Given the description of an element on the screen output the (x, y) to click on. 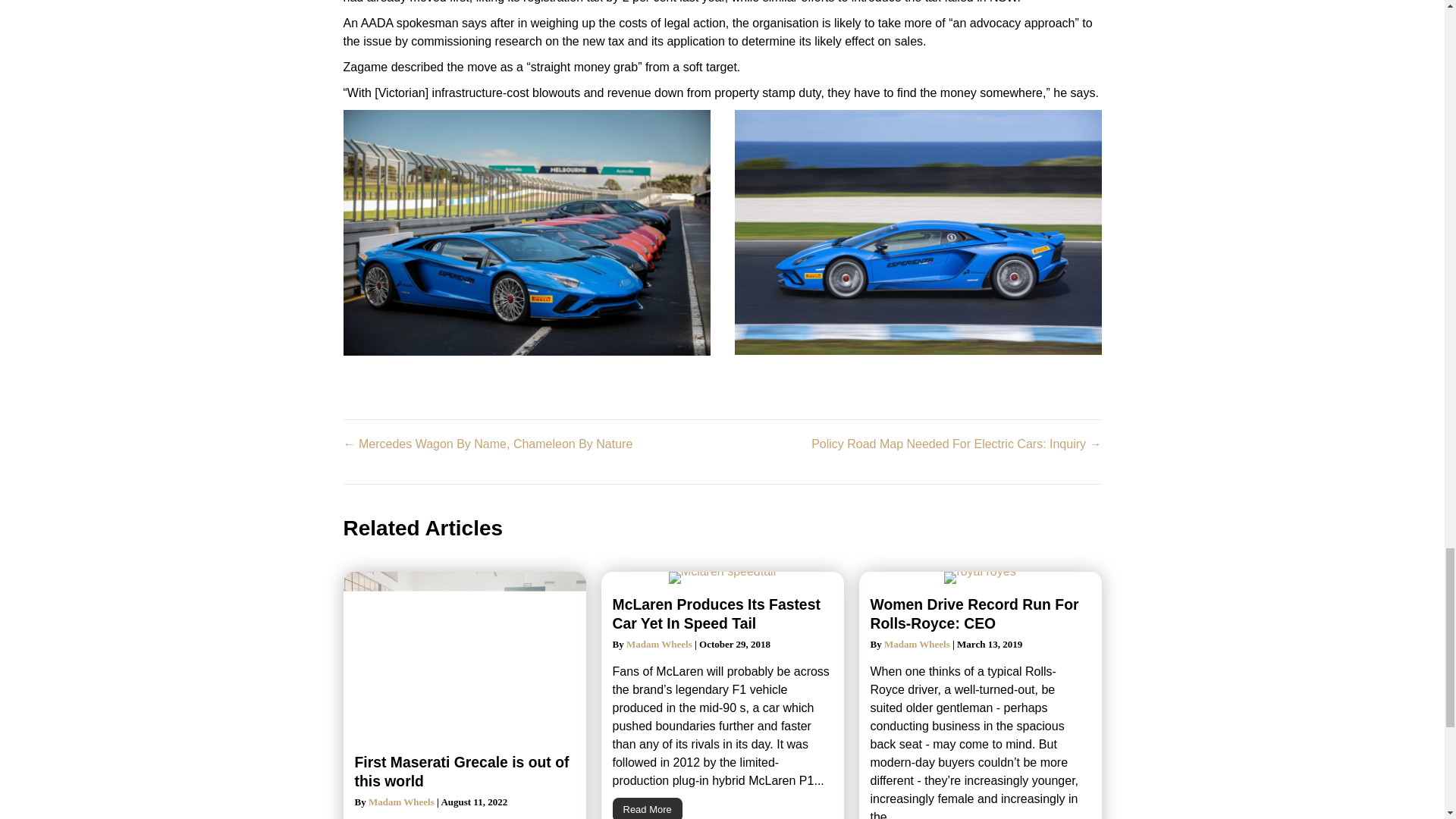
Women Drive Record Run For Rolls-Royce: CEO (974, 613)
McLaren Produces Its Fastest Car Yet In Speed Tail (716, 613)
First Maserati Grecale is out of this world (462, 771)
Madam Wheels (916, 644)
McLaren Produces Its Fastest Car Yet In Speed Tail (716, 613)
royal royes (978, 577)
First Maserati Grecale is out of this world (462, 771)
Madam Wheels (659, 644)
Grecale Fuoriserie Mission From Mars 001 Melb (463, 656)
